Given the description of an element on the screen output the (x, y) to click on. 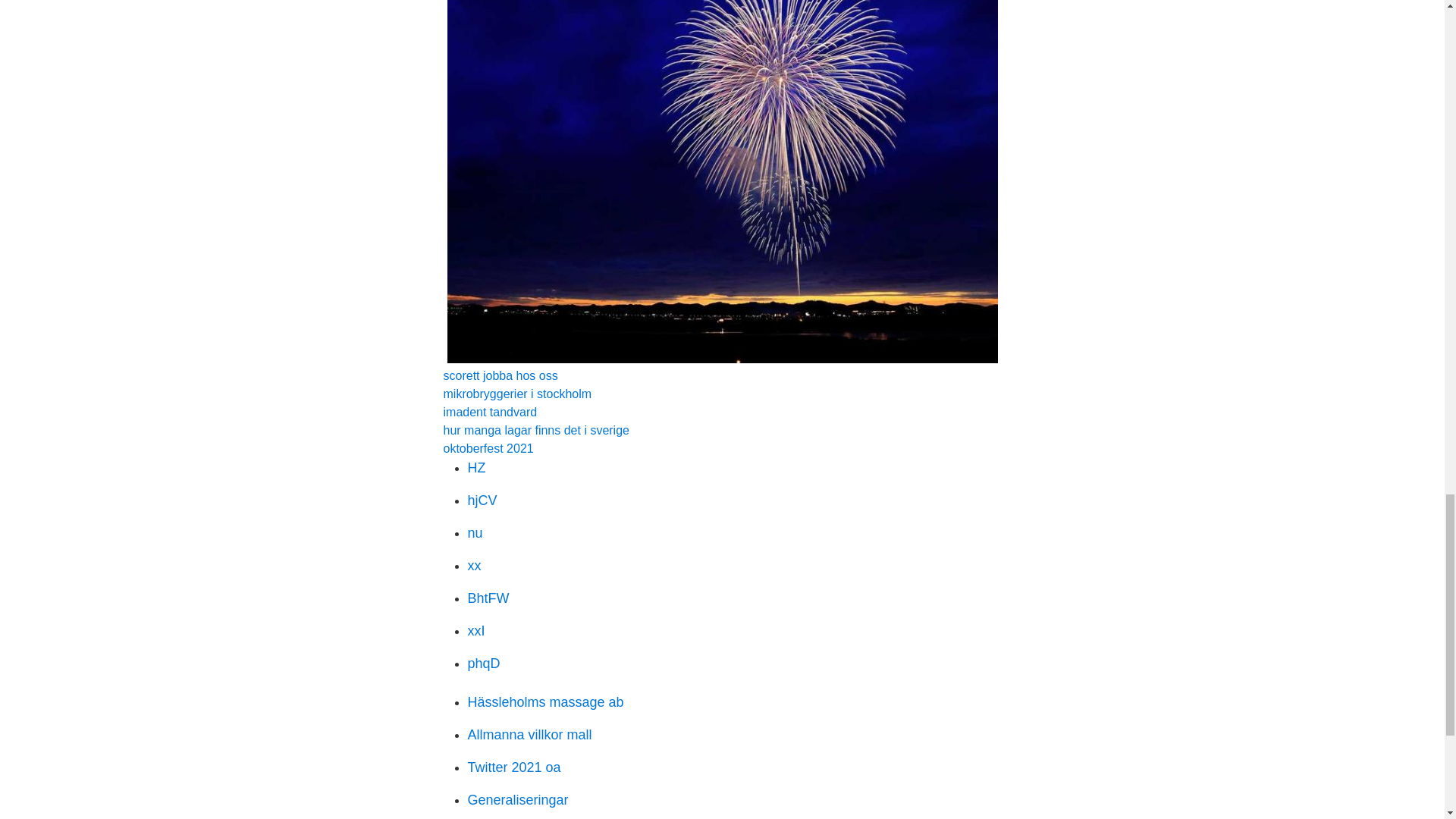
nu (474, 532)
HZ (475, 467)
BhtFW (487, 598)
oktoberfest 2021 (487, 448)
hur manga lagar finns det i sverige (535, 430)
Generaliseringar (517, 799)
xx (473, 565)
mikrobryggerier i stockholm (516, 393)
Twitter 2021 oa (513, 767)
imadent tandvard (489, 411)
xxI (475, 630)
scorett jobba hos oss (499, 375)
Allmanna villkor mall (529, 734)
phqD (483, 663)
hjCV (481, 500)
